Given the description of an element on the screen output the (x, y) to click on. 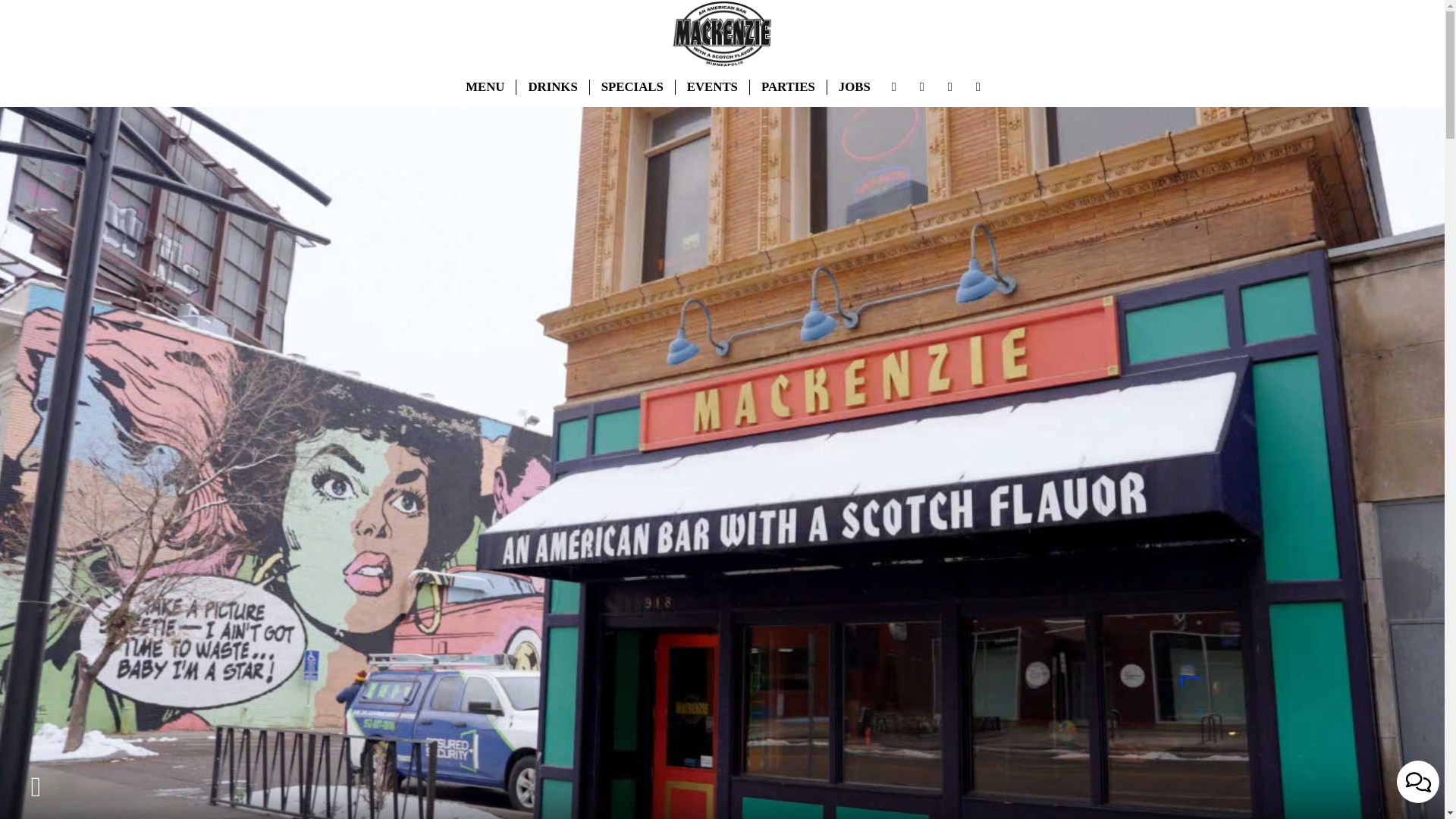
DRINKS (552, 87)
SPECIALS (632, 87)
PARTIES (788, 87)
EVENTS (712, 87)
JOBS (854, 87)
MENU (485, 87)
